Given the description of an element on the screen output the (x, y) to click on. 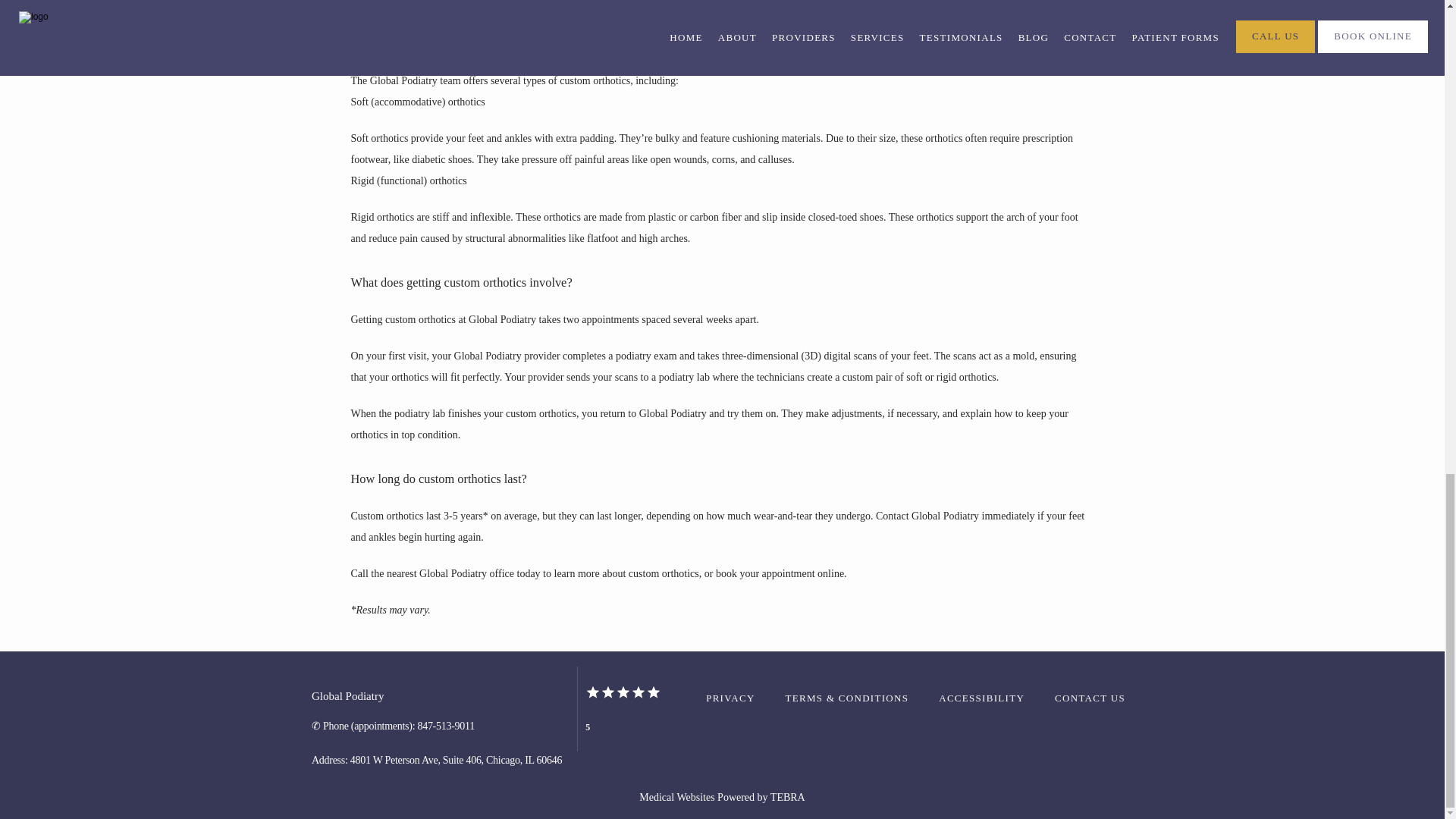
TEBRA (787, 797)
ACCESSIBILITY (982, 697)
CONTACT US (1089, 697)
PRIVACY (730, 697)
